Given the description of an element on the screen output the (x, y) to click on. 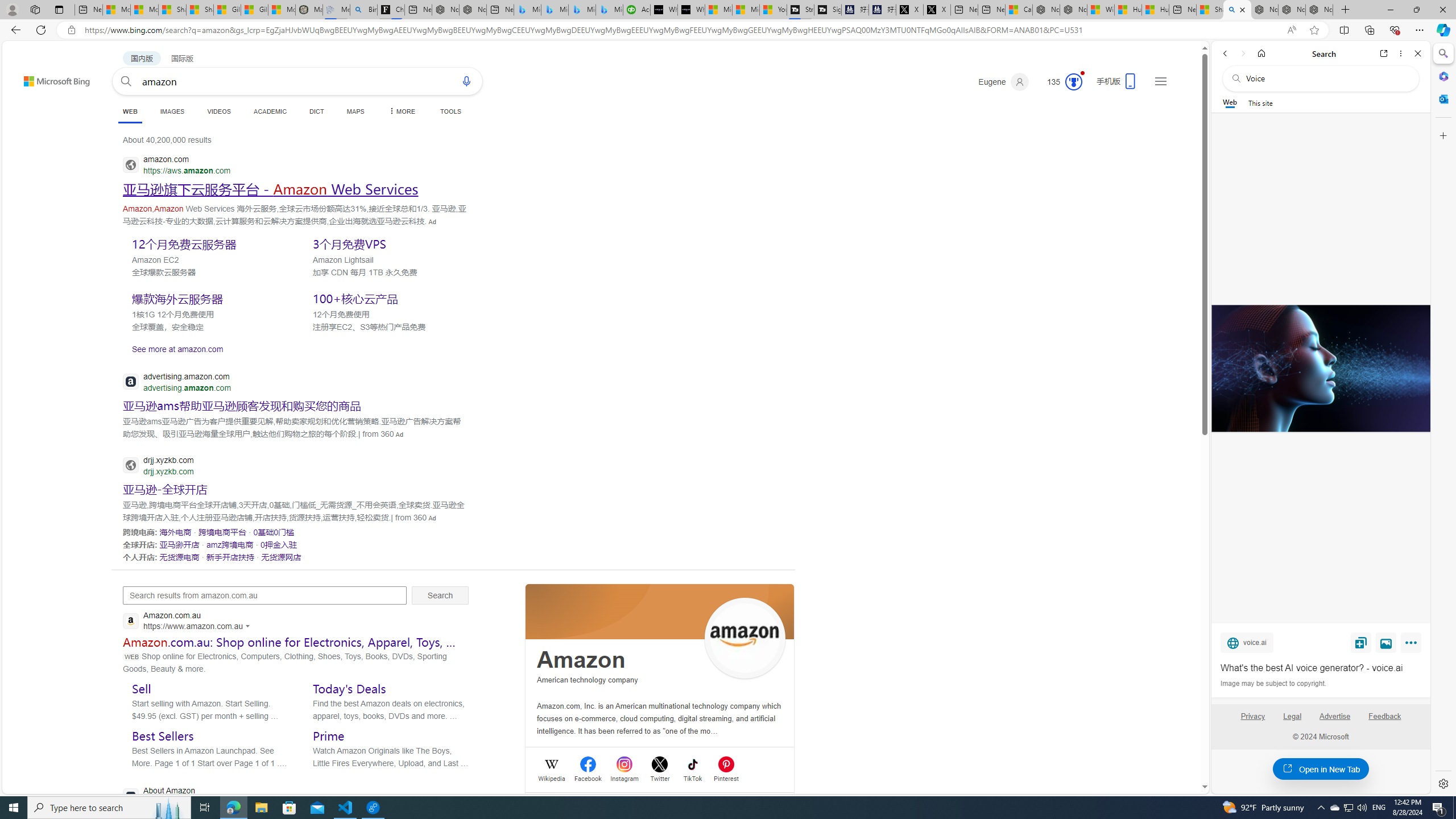
SERP,5558 (241, 404)
New Tab (1346, 9)
More options (1401, 53)
Nordace - Summer Adventures 2024 (1073, 9)
SERP,5571 (278, 544)
What's the best AI voice generator? - voice.ai (1320, 368)
This site scope (1259, 102)
Microsoft Rewards 132 (1059, 81)
Web scope (1230, 102)
Microsoft Bing Travel - Stays in Bangkok, Bangkok, Thailand (554, 9)
Accounting Software for Accountants, CPAs and Bookkeepers (636, 9)
Search button (126, 80)
